Given the description of an element on the screen output the (x, y) to click on. 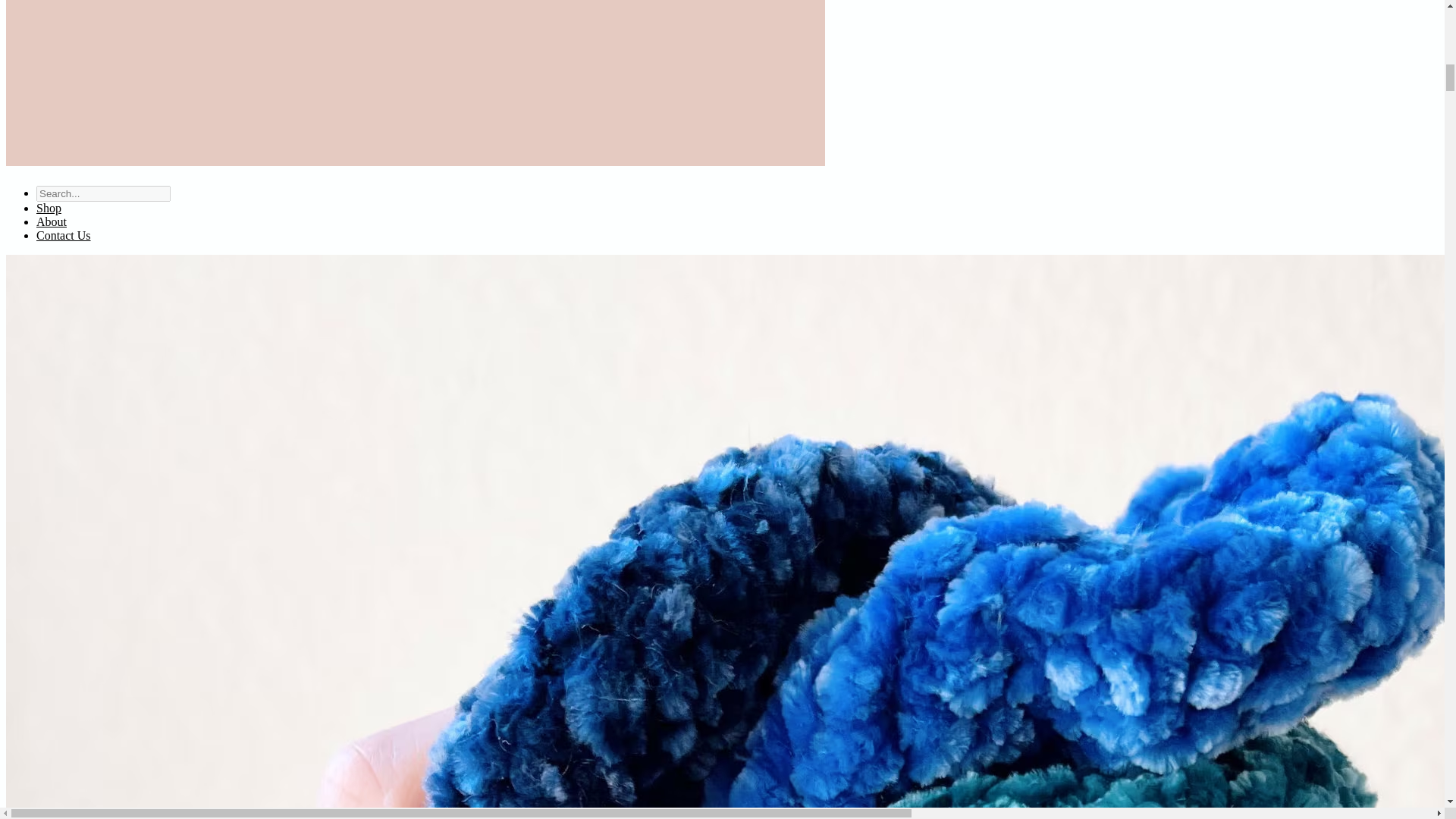
Shop (48, 207)
Contact Us (63, 235)
About (51, 221)
